Given the description of an element on the screen output the (x, y) to click on. 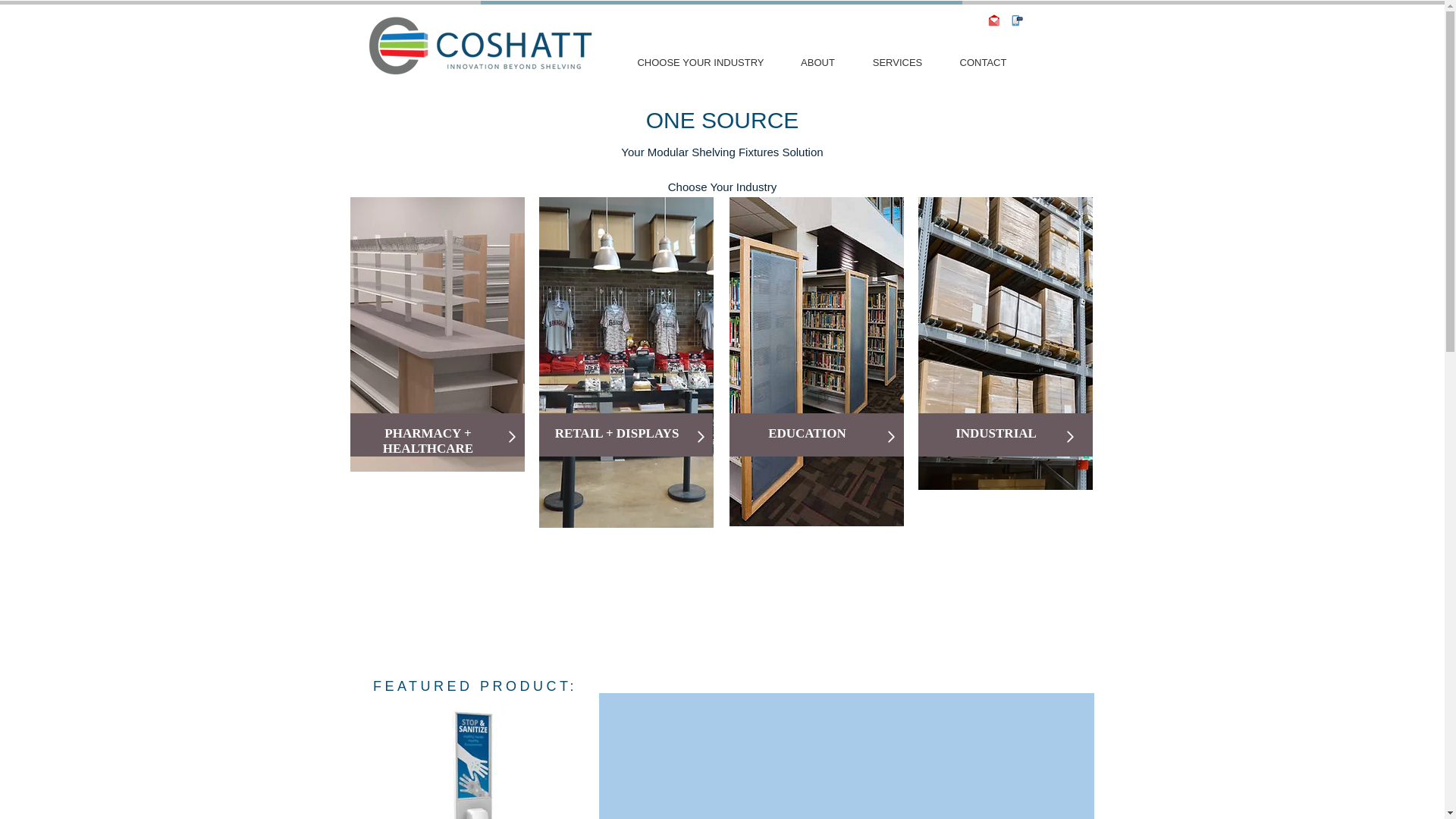
EDUCATION (806, 432)
INDUSTRIAL (995, 432)
CONTACT (983, 61)
ABOUT (818, 61)
CHOOSE YOUR INDUSTRY (700, 61)
SERVICES (898, 61)
